Given the description of an element on the screen output the (x, y) to click on. 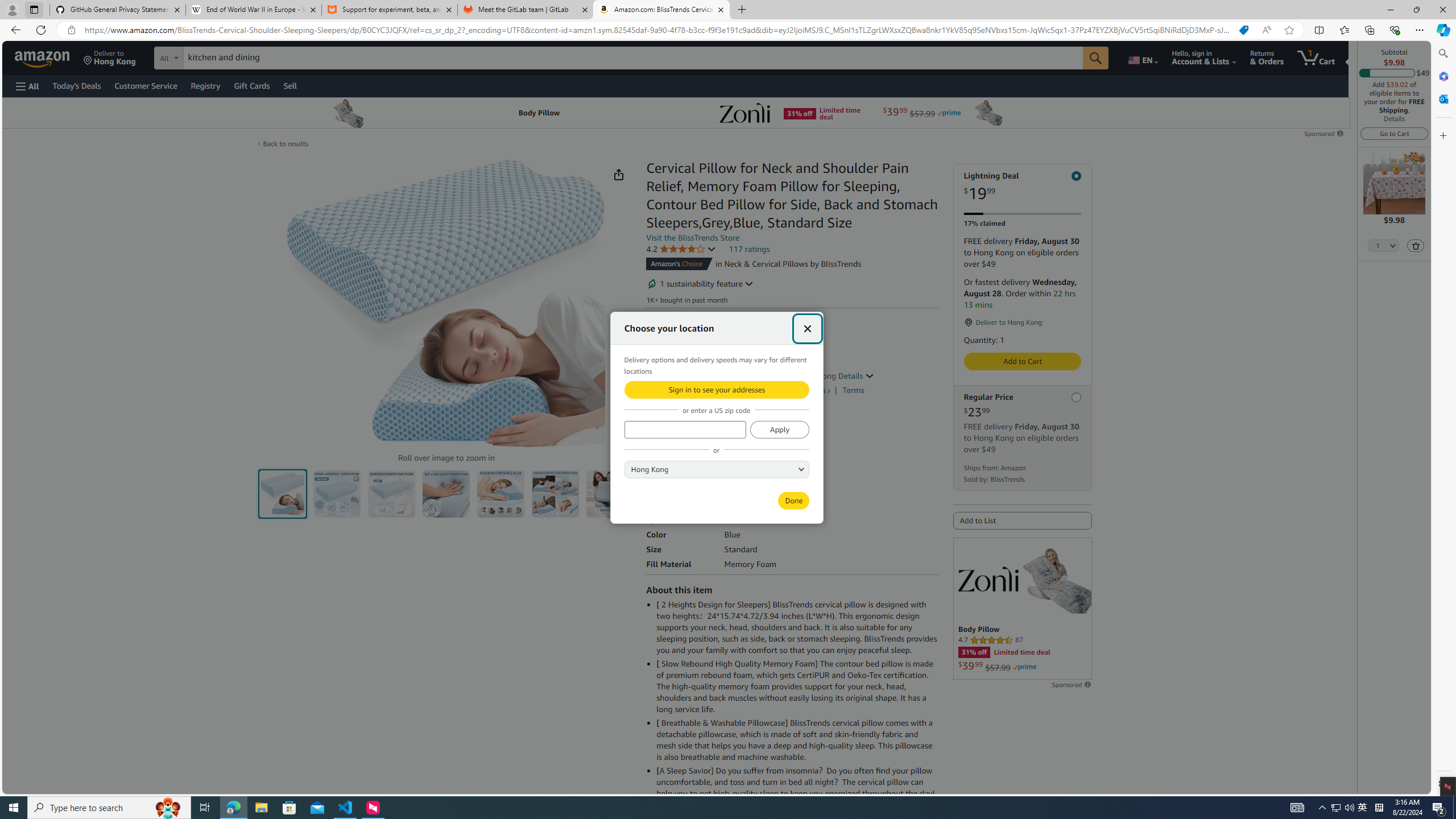
Pink (711, 433)
1 item in cart (1315, 57)
Blue (657, 432)
Go (1096, 57)
Grey (684, 433)
Sponsored ad (1022, 608)
117 ratings (749, 248)
Customer Service (145, 85)
Registry (205, 85)
Share (618, 174)
